Given the description of an element on the screen output the (x, y) to click on. 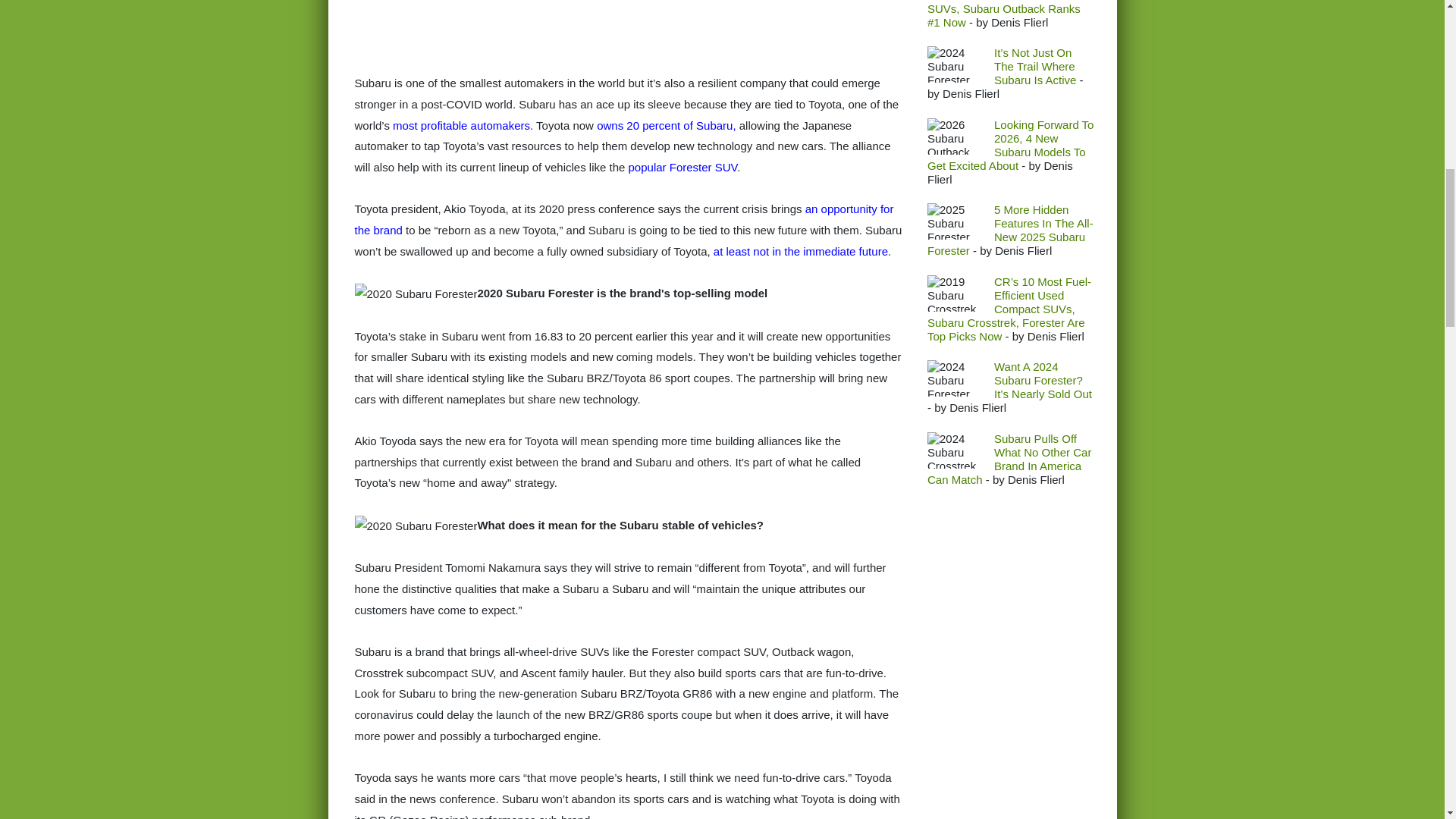
owns 20 percent of Subaru, (665, 124)
most profitable automakers (461, 124)
at least not in the immediate future (800, 250)
an opportunity for the brand (624, 219)
popular Forester SUV (683, 166)
